Given the description of an element on the screen output the (x, y) to click on. 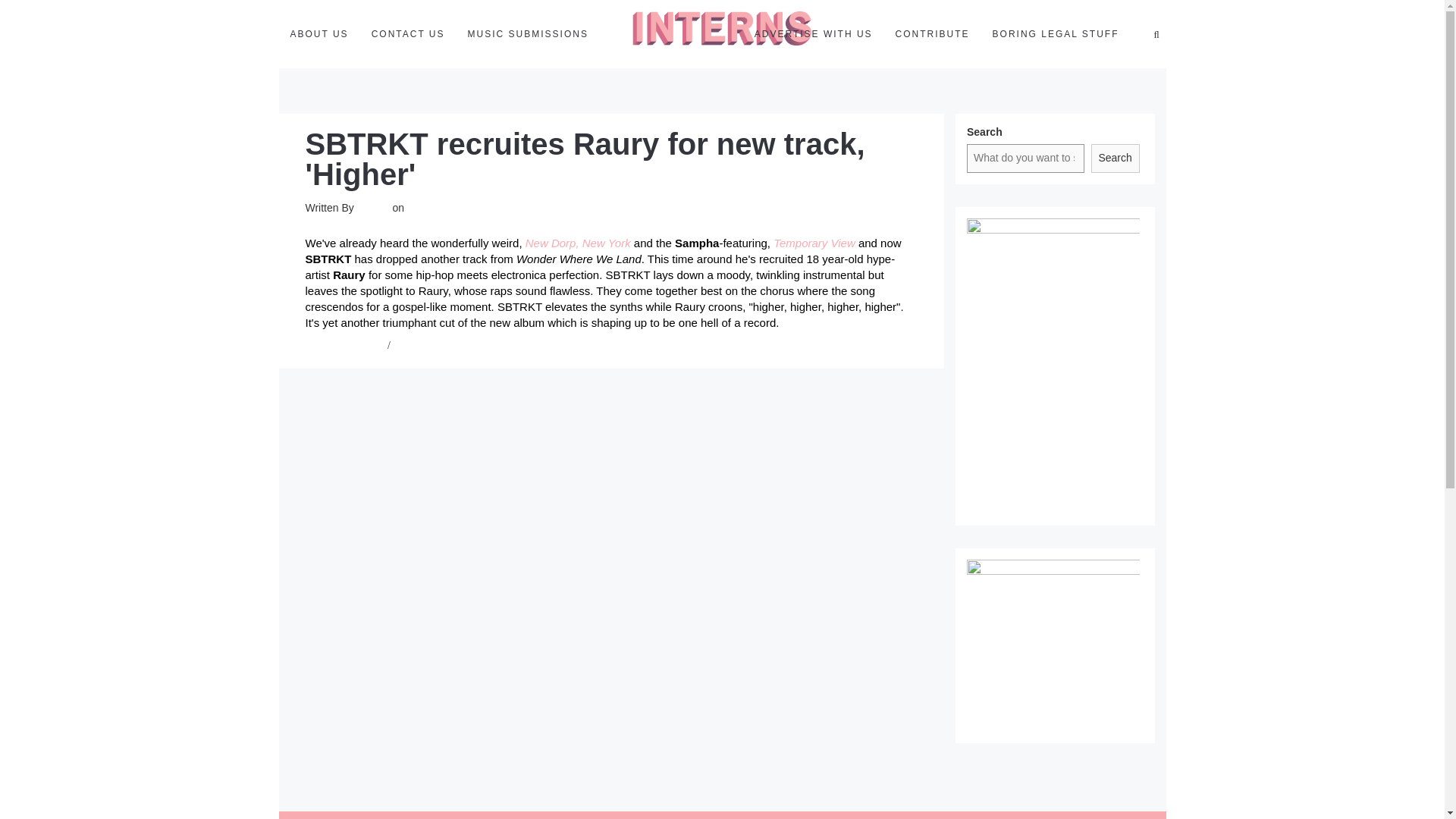
Bianca (373, 207)
Temporary View (814, 242)
ABOUT US (319, 33)
CONTACT US (408, 33)
MUSIC SUBMISSIONS (528, 33)
albums, songs, eps (344, 345)
Advertise With Us (812, 33)
CONTRIBUTE (932, 33)
Search (1115, 158)
new music (415, 345)
ADVERTISE WITH US (812, 33)
New Dorp, New York (577, 242)
BORING LEGAL STUFF (1056, 33)
